Given the description of an element on the screen output the (x, y) to click on. 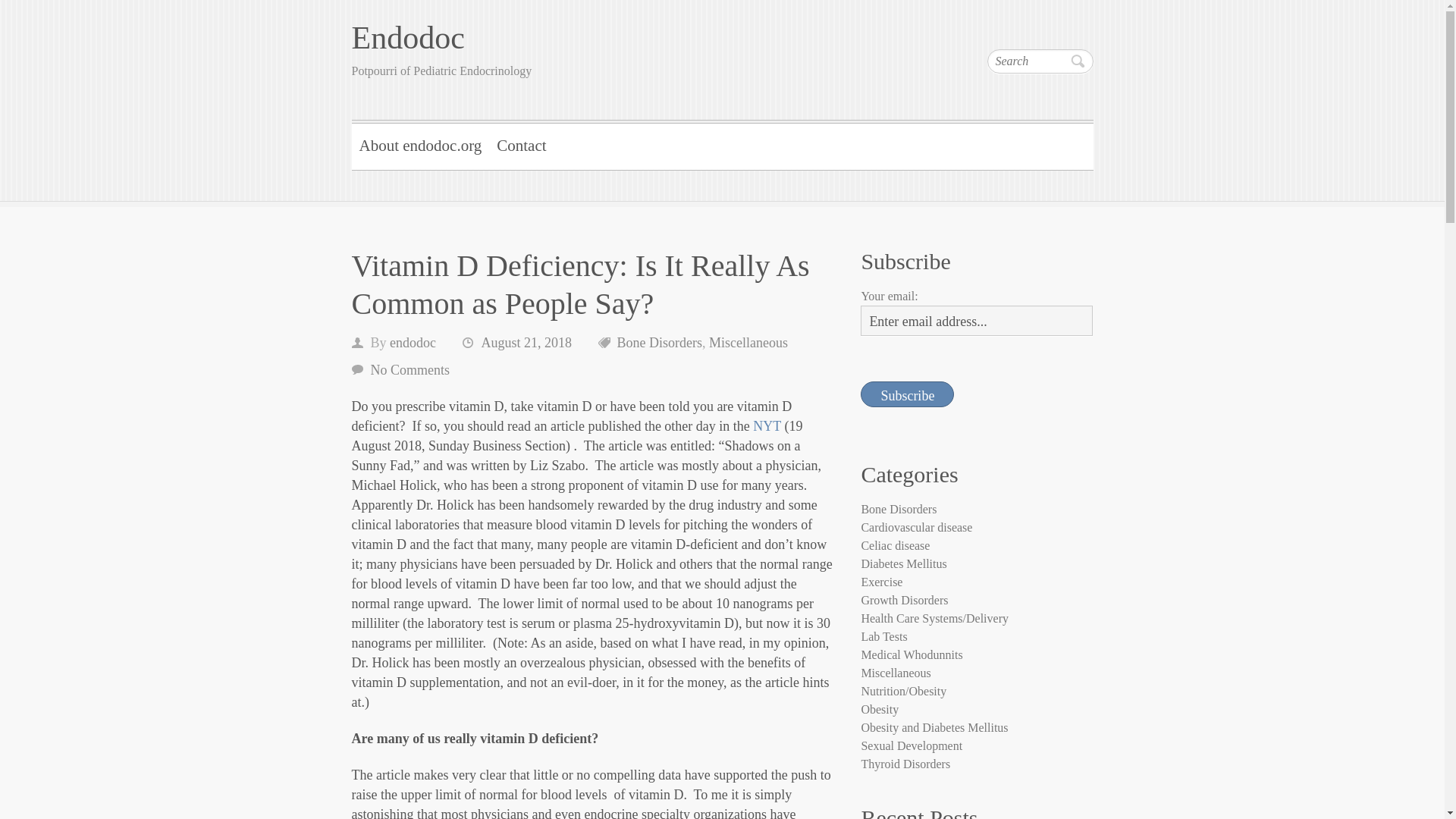
Obesity (879, 708)
Cardiovascular disease (916, 526)
Sexual Development (911, 745)
Subscribe (906, 394)
Subscribe (906, 394)
endodoc (412, 342)
Lab Tests (883, 635)
Growth Disorders (903, 599)
Bone Disorders (898, 508)
Miscellaneous (748, 342)
